Given the description of an element on the screen output the (x, y) to click on. 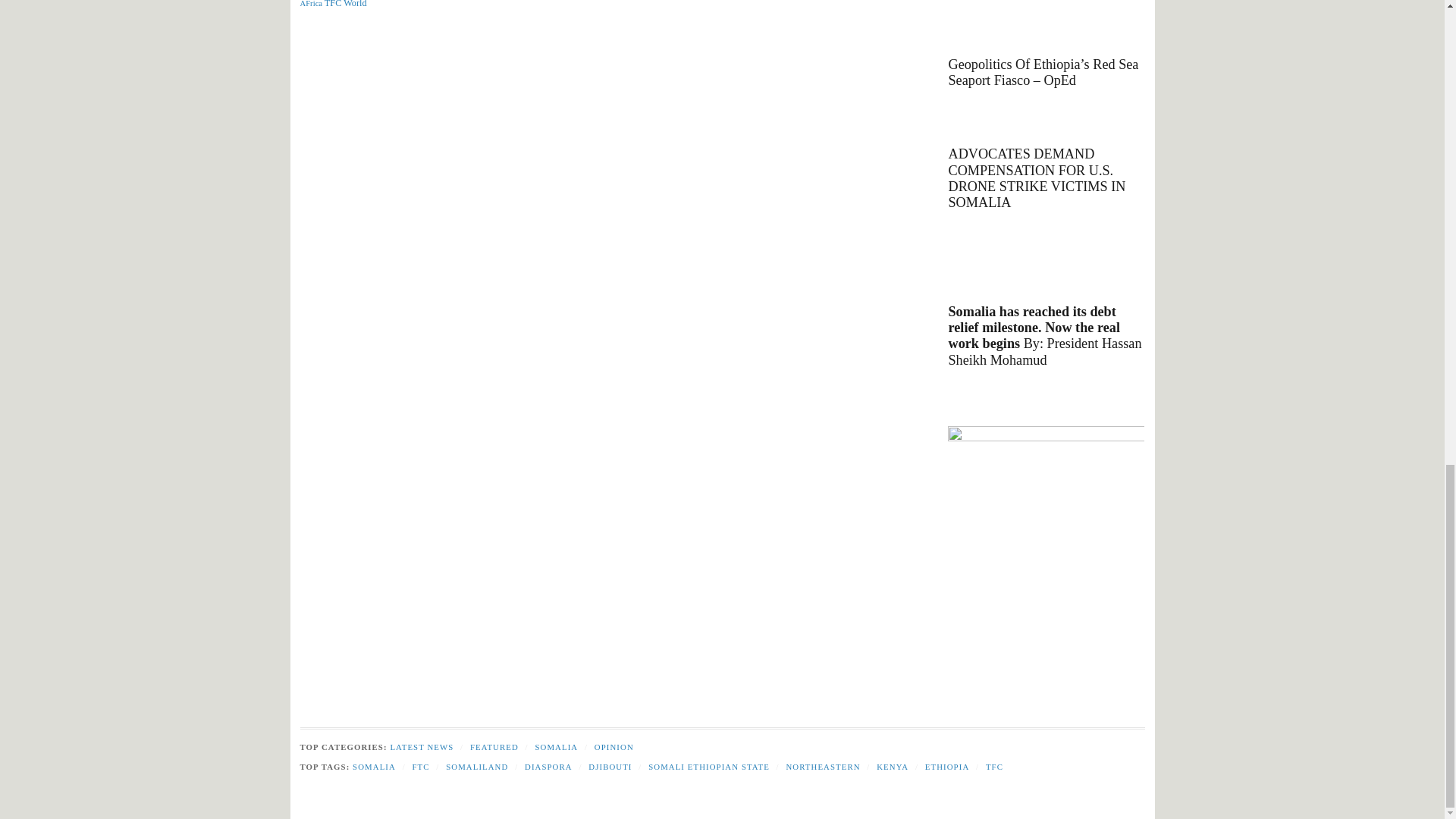
World (354, 4)
South AFrica (356, 3)
TFC (333, 4)
